Given the description of an element on the screen output the (x, y) to click on. 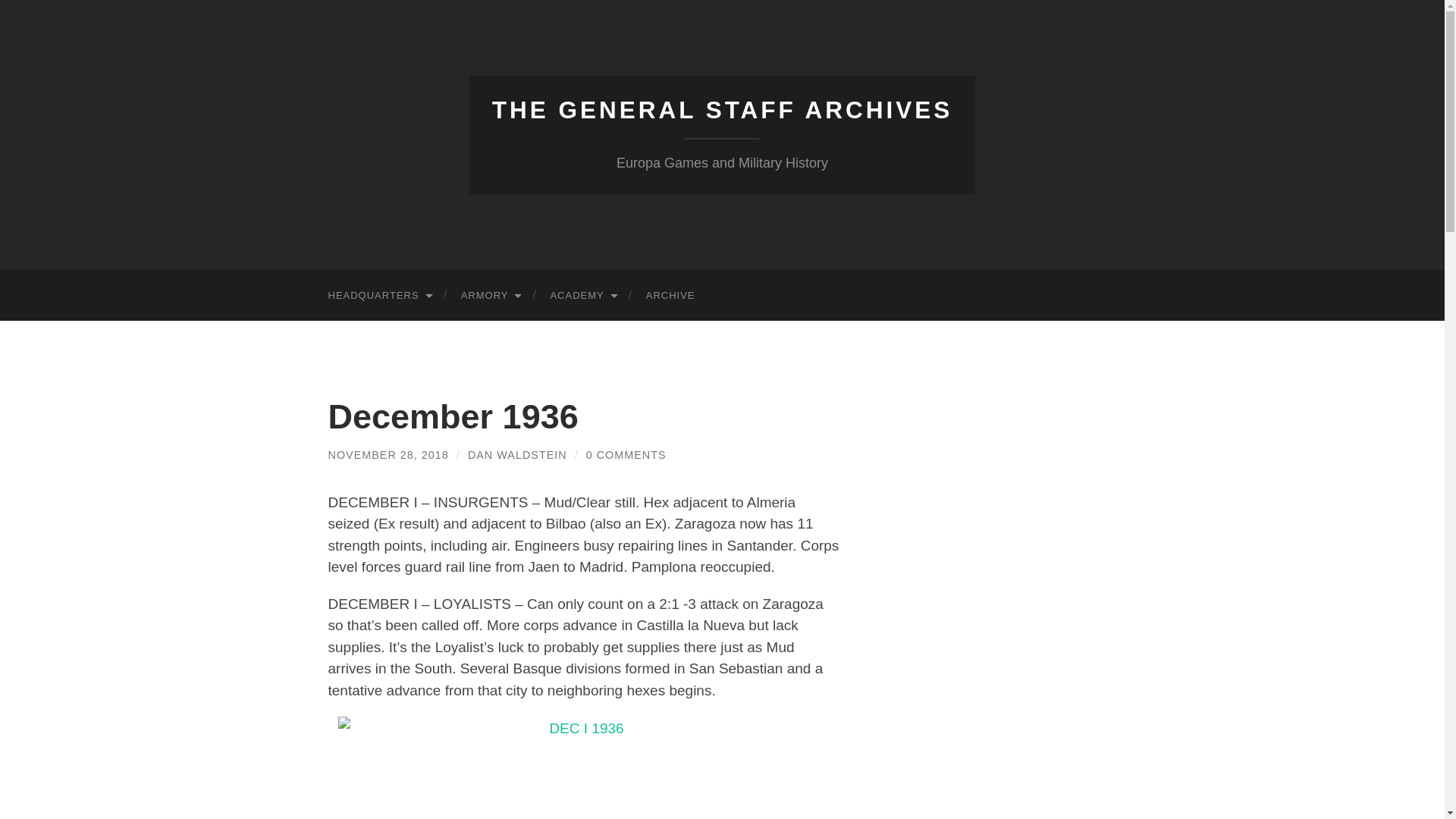
ARMORY (490, 295)
THE GENERAL STAFF ARCHIVES (722, 109)
Posts by Dan Waldstein (517, 454)
HEADQUARTERS (379, 295)
